Given the description of an element on the screen output the (x, y) to click on. 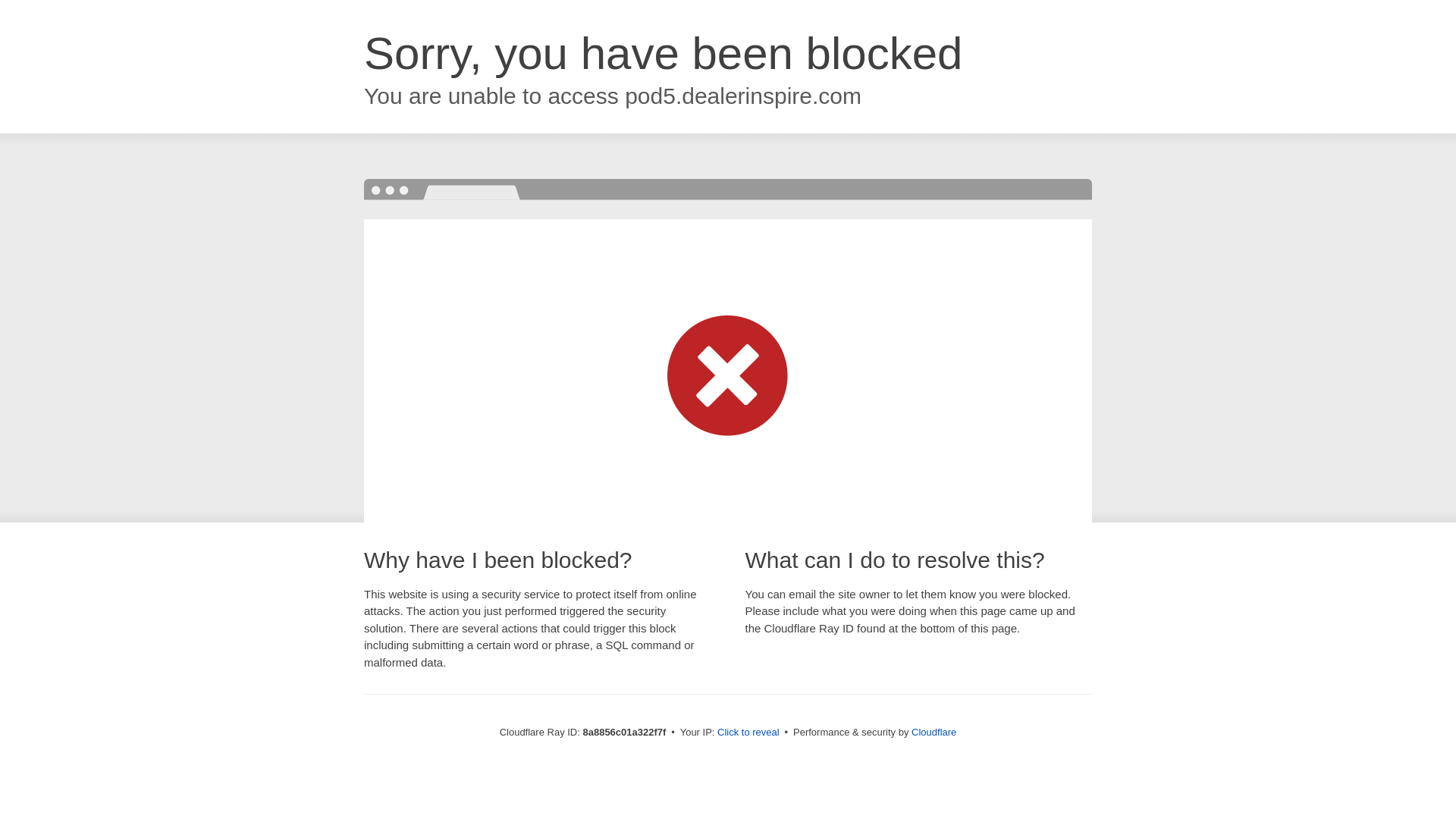
Cloudflare (933, 731)
Click to reveal (747, 732)
